Given the description of an element on the screen output the (x, y) to click on. 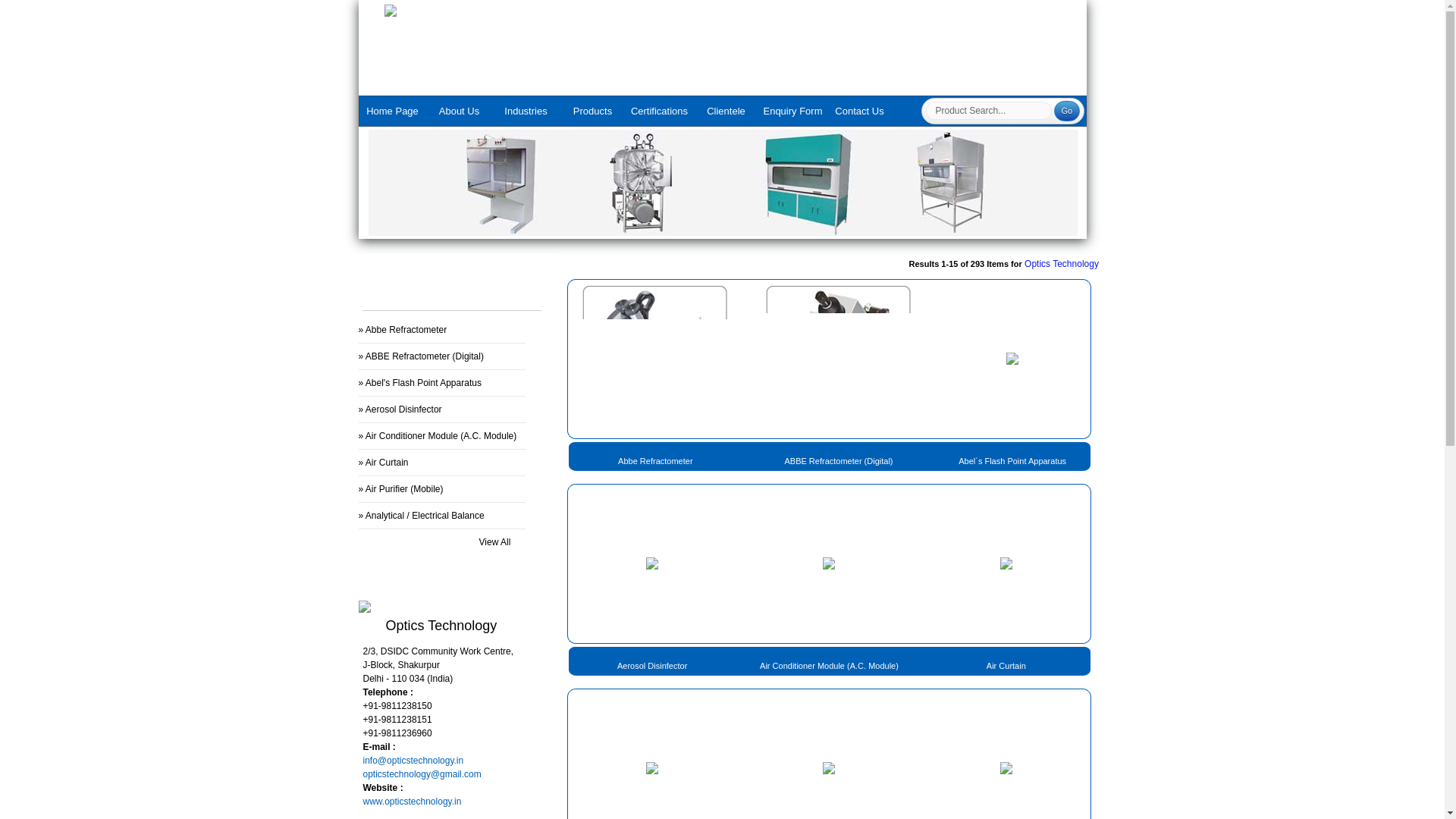
Industries (526, 115)
Clientele (726, 115)
Product Search... (987, 110)
Products (592, 115)
Home Page (392, 115)
About Us (459, 115)
Go (1067, 110)
Go (1067, 110)
Enquiry Form (793, 115)
Product Search... (987, 110)
Go (1067, 110)
Certifications (659, 115)
Contact Us (860, 115)
